Given the description of an element on the screen output the (x, y) to click on. 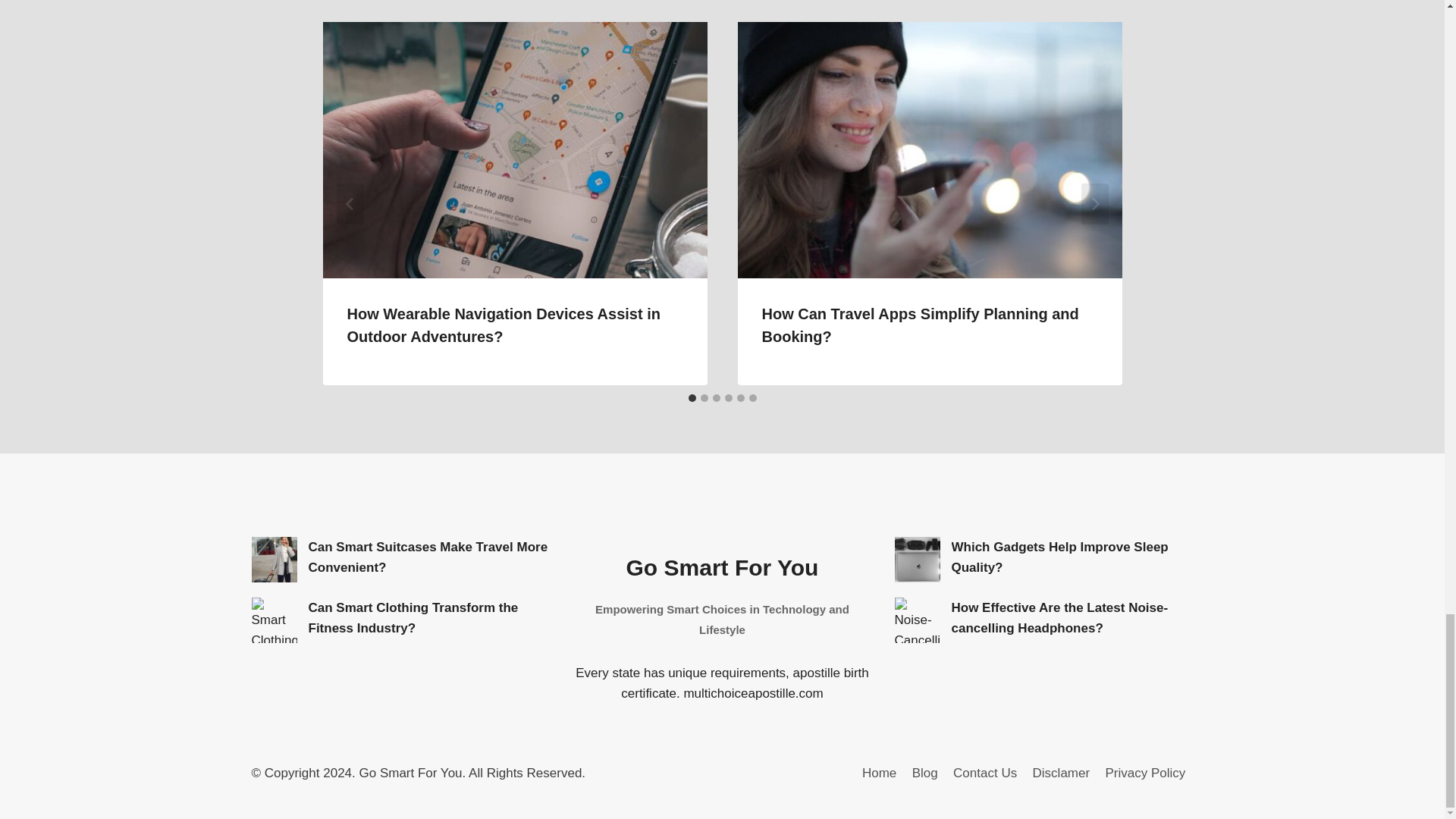
Can Smart Clothing Transform the Fitness Industry? (274, 619)
How Can Travel Apps Simplify Planning and Booking? (919, 324)
How Effective Are the Latest Noise-cancelling Headphones? (917, 619)
Can Smart Suitcases Make Travel More Convenient? (274, 559)
Which Gadgets Help Improve Sleep Quality? (917, 559)
